Given the description of an element on the screen output the (x, y) to click on. 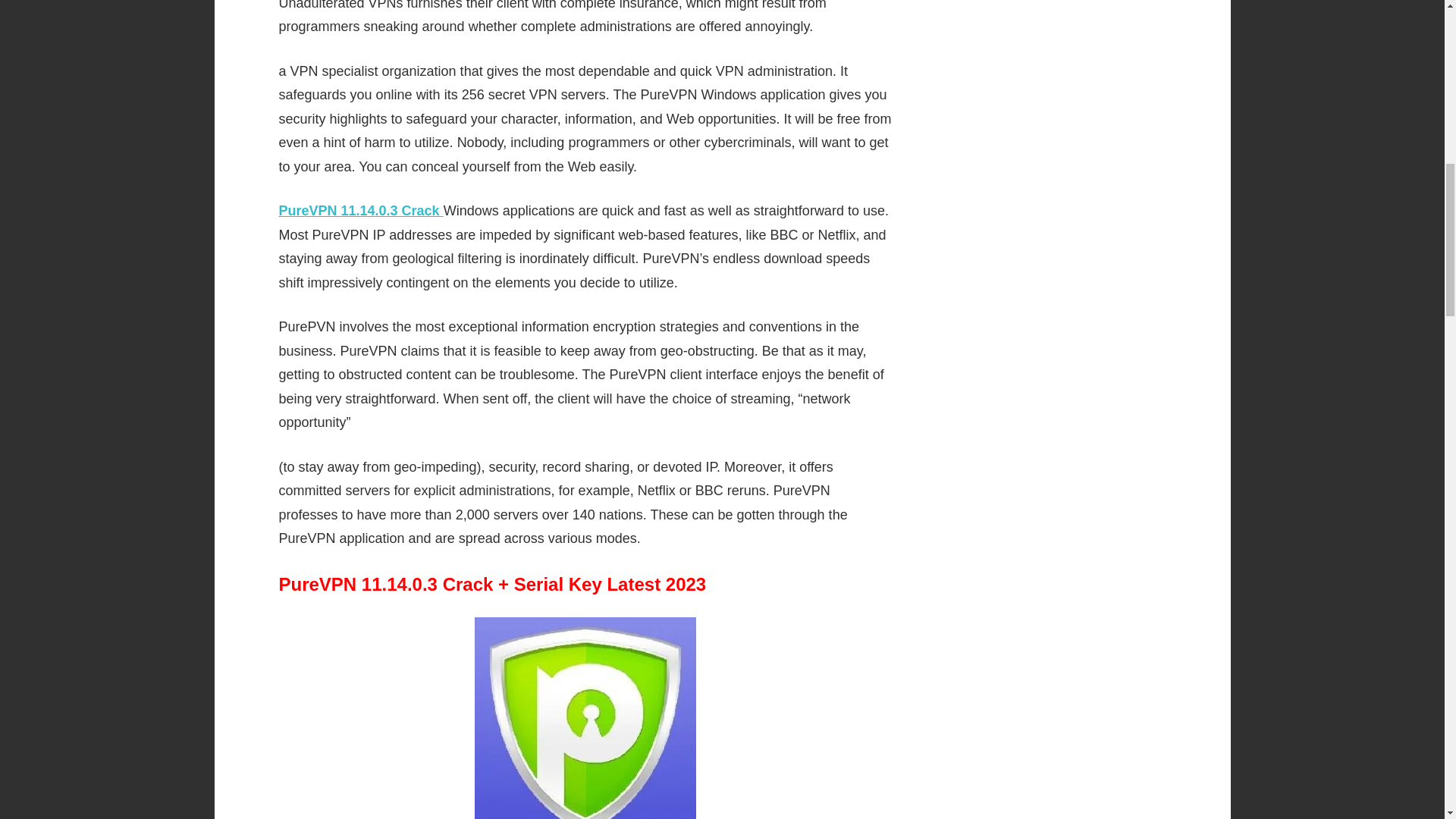
PureVPN 11.14.0.3 Crack (361, 210)
